Given the description of an element on the screen output the (x, y) to click on. 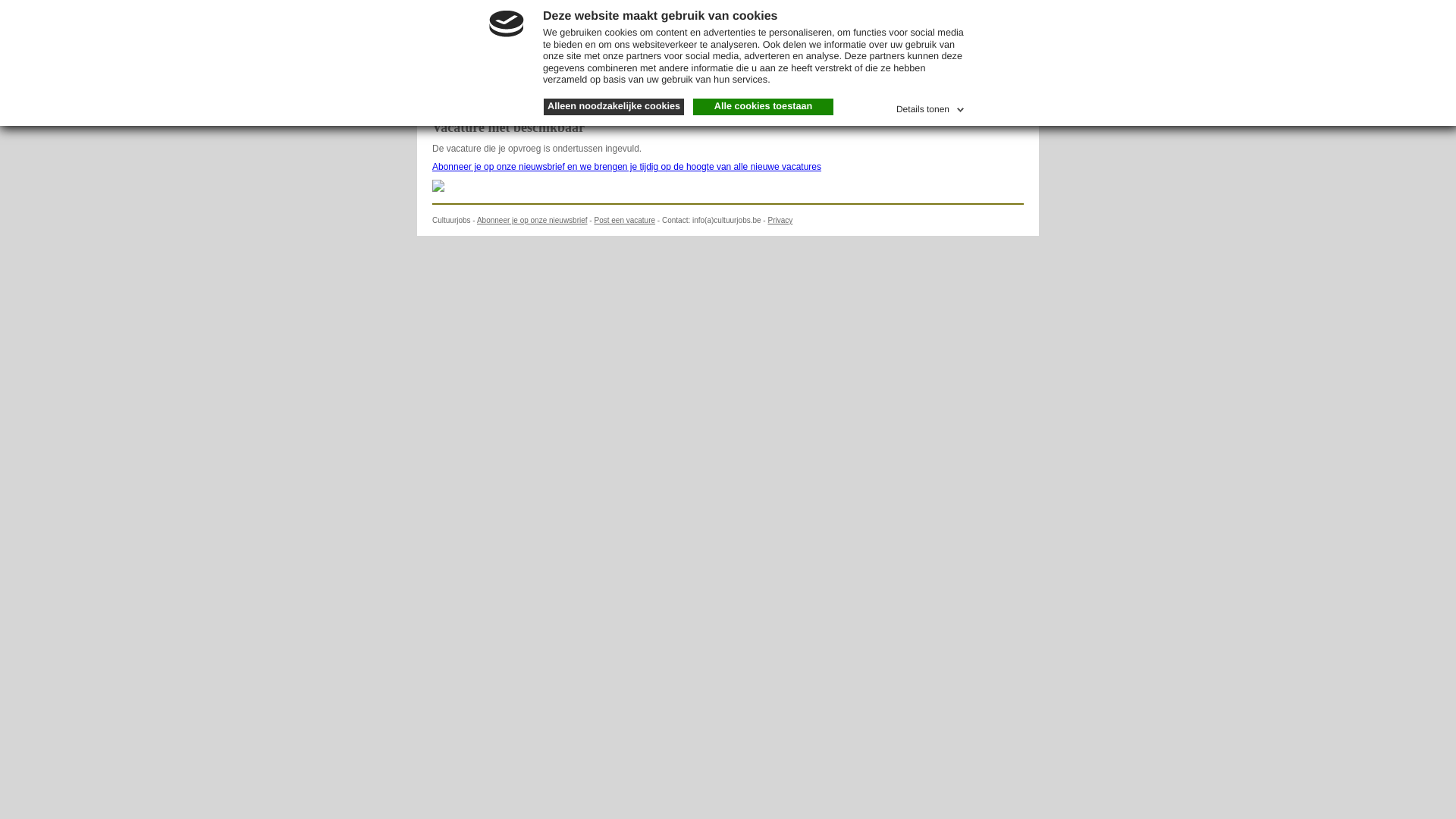
Alle cookies toestaan Element type: text (763, 106)
Zoek in 104 vacatures Element type: text (884, 18)
Privacy Element type: text (779, 220)
Abonneer je op onze nieuwsbrief Element type: text (531, 220)
Alleen noodzakelijke cookies Element type: text (613, 106)
Details tonen Element type: text (931, 106)
Cultuurjobs Element type: text (492, 17)
Post een vacature Element type: text (624, 220)
Zoek Element type: text (1000, 19)
